Given the description of an element on the screen output the (x, y) to click on. 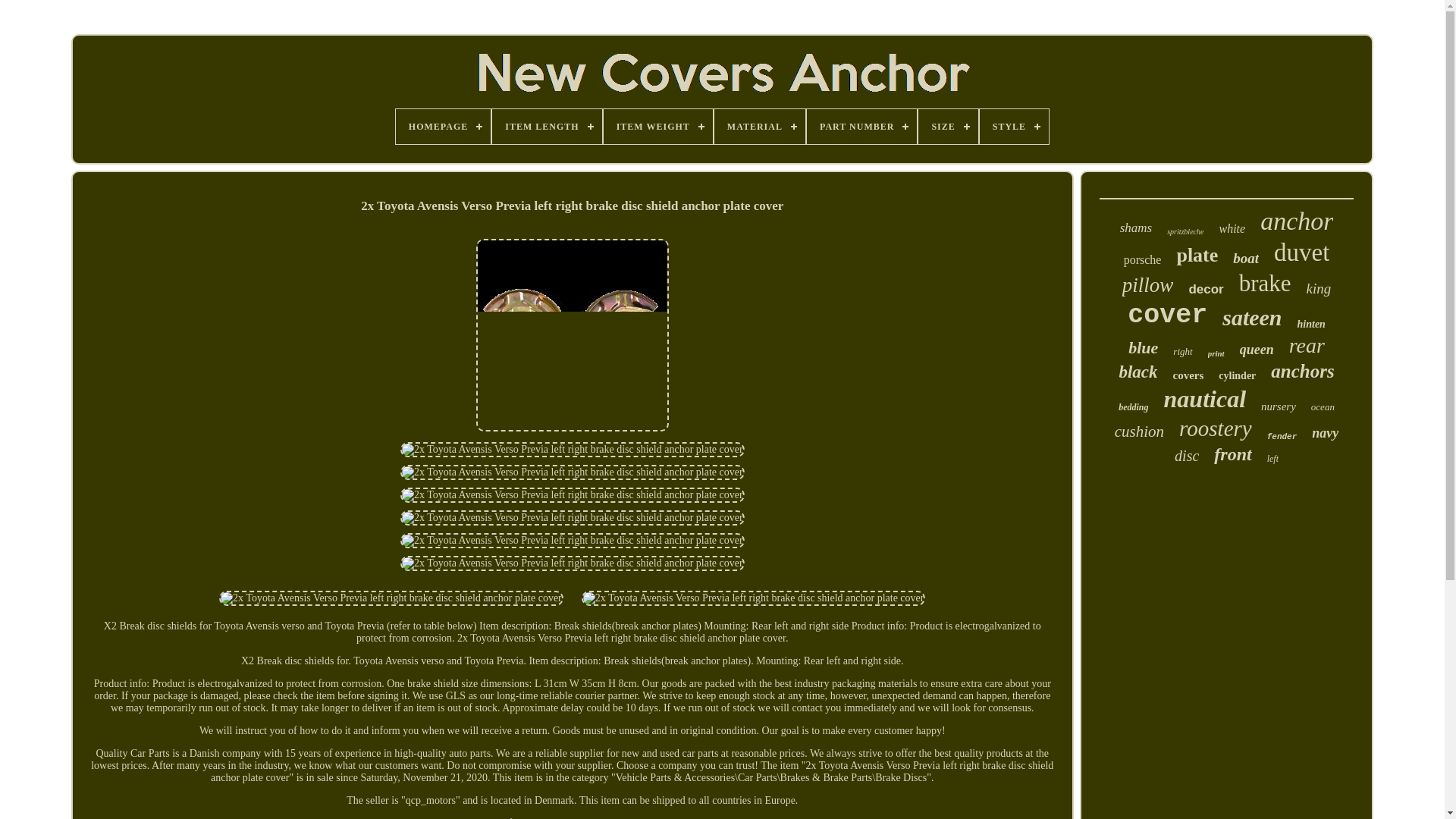
HOMEPAGE (443, 126)
ITEM LENGTH (546, 126)
ITEM WEIGHT (658, 126)
